Given the description of an element on the screen output the (x, y) to click on. 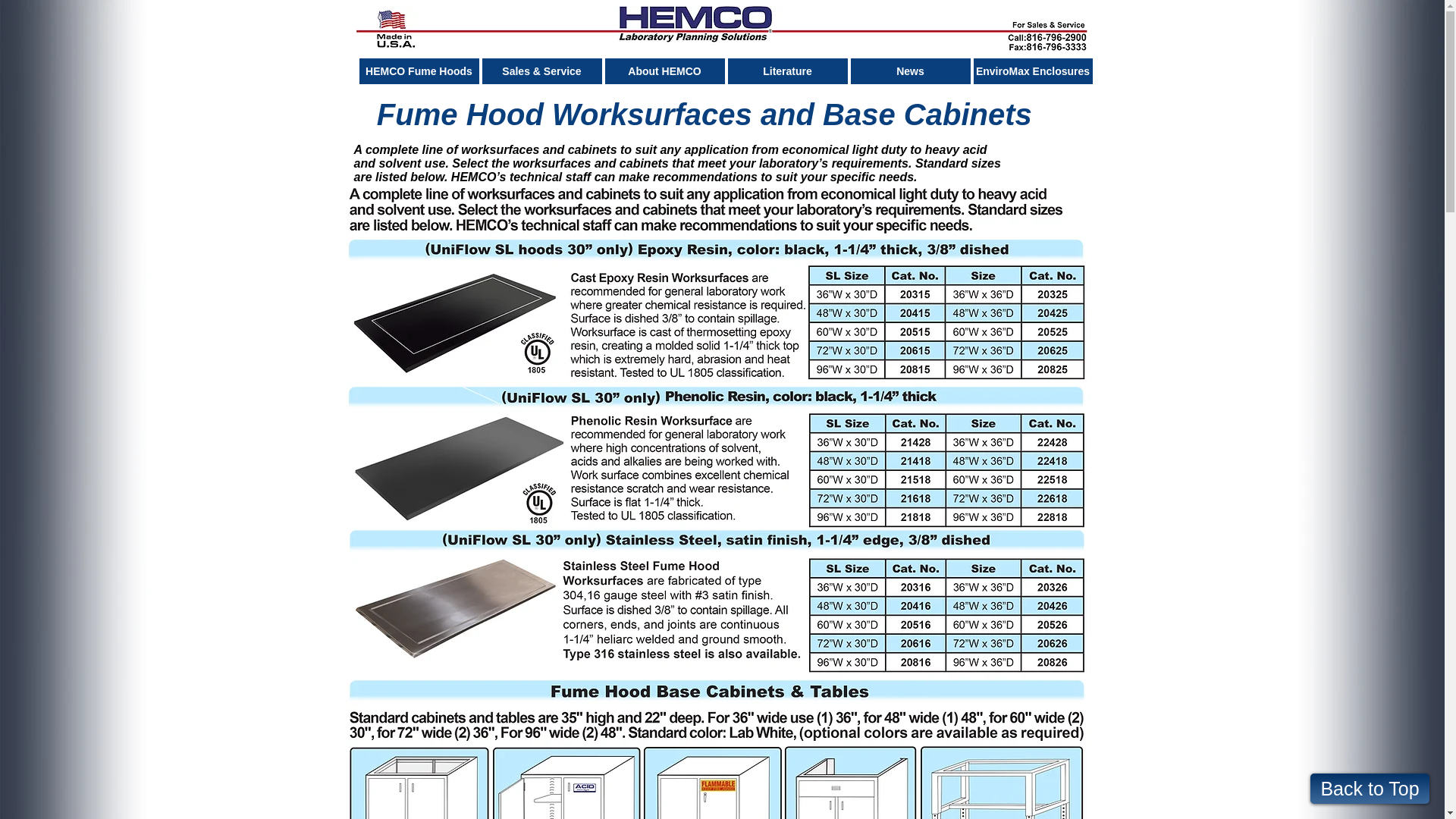
HEMCO Fume Hoods (419, 71)
News (910, 71)
About HEMCO (665, 71)
Literature (787, 71)
Back to Top (1369, 788)
EnviroMax Enclosures (1033, 71)
